Given the description of an element on the screen output the (x, y) to click on. 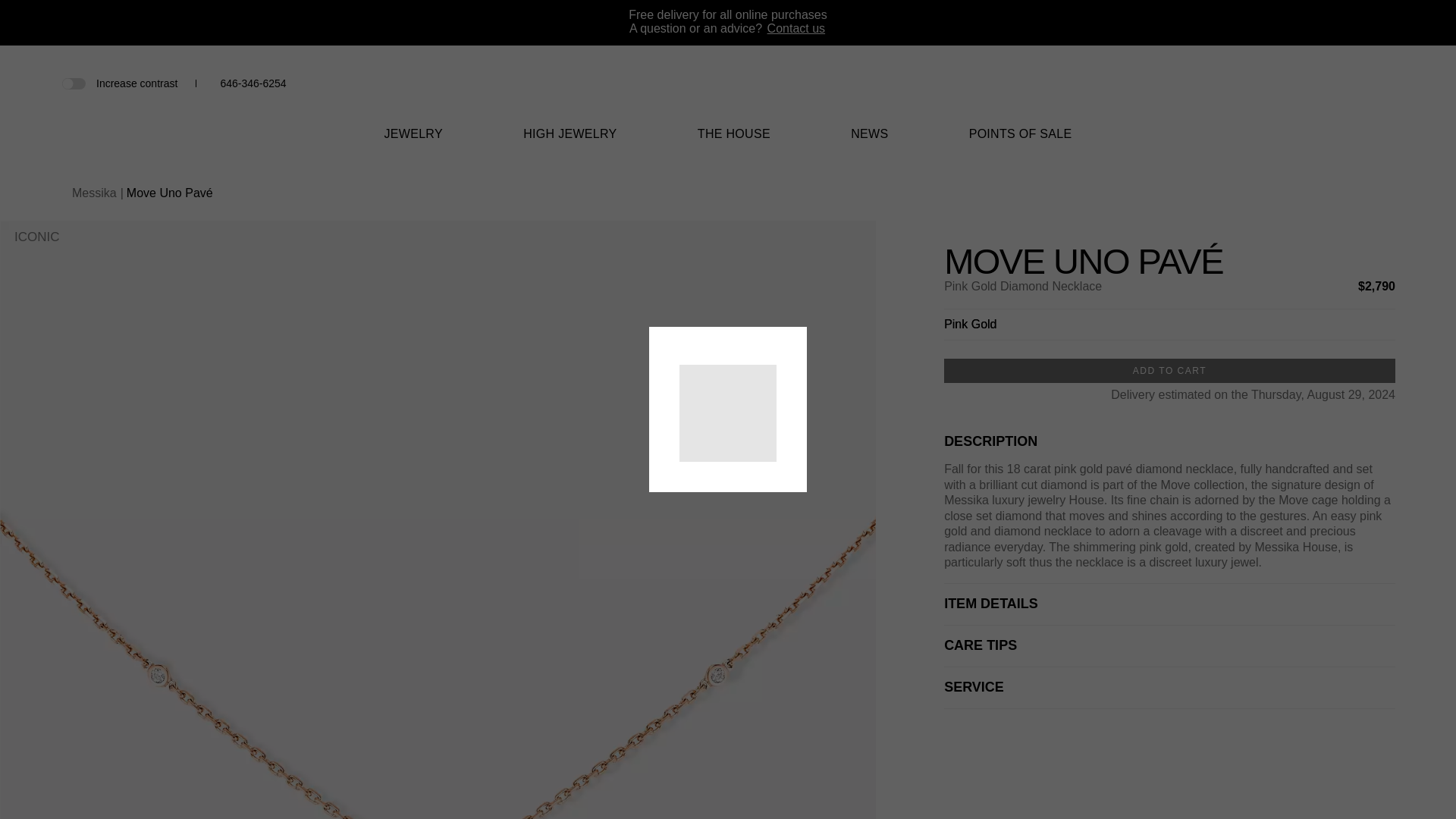
Contact us (796, 28)
646-346-6254 (252, 82)
646-346-6254 (252, 82)
Messika (727, 103)
on (73, 82)
Search (1310, 84)
Wishlist (1335, 83)
Wishlist (1335, 84)
Messika (727, 92)
JEWELRY (413, 142)
